Given the description of an element on the screen output the (x, y) to click on. 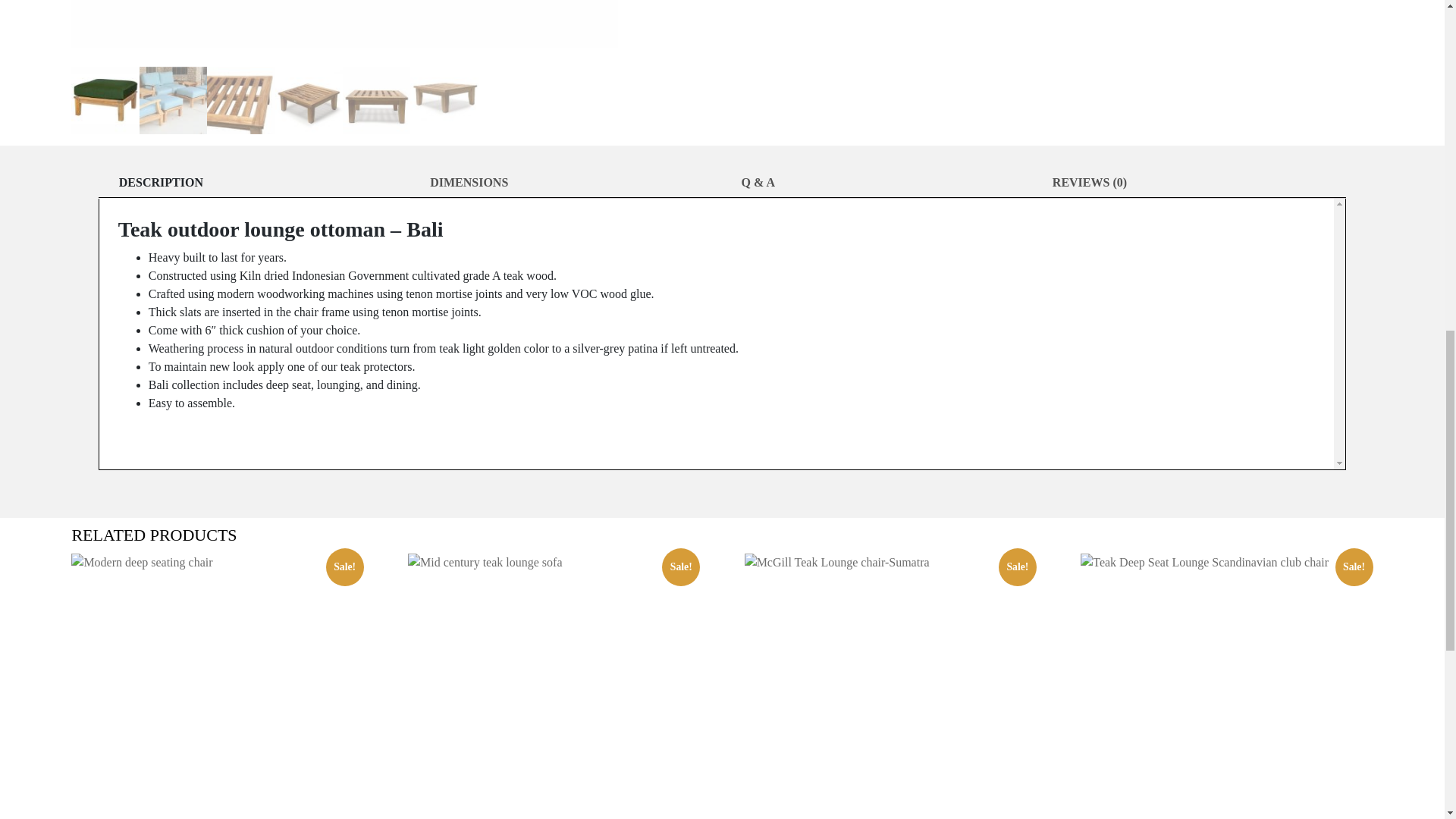
Teak-lounge-Ottoman-Bali-5 (396, 23)
